Given the description of an element on the screen output the (x, y) to click on. 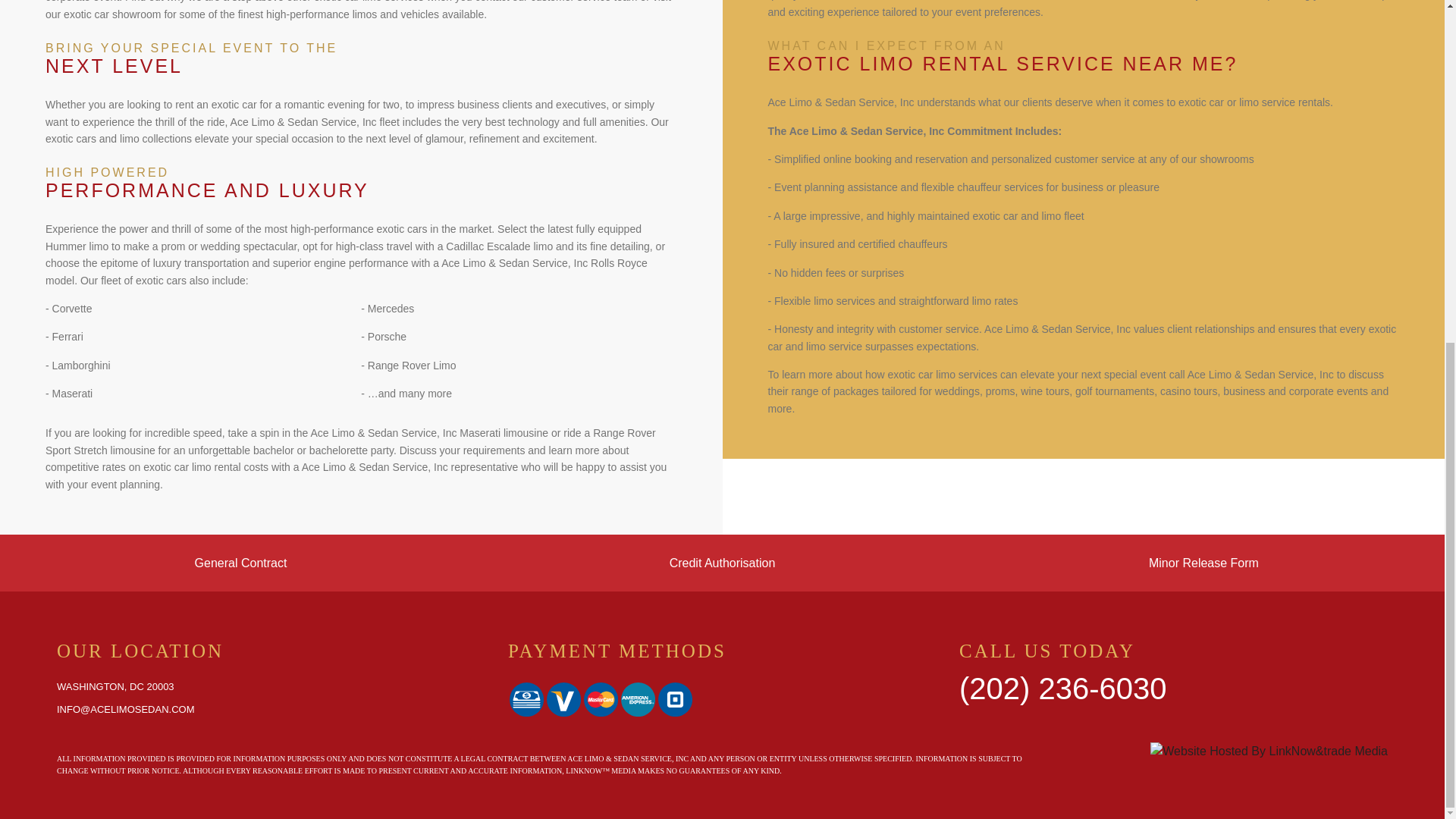
General Contract (240, 562)
